Given the description of an element on the screen output the (x, y) to click on. 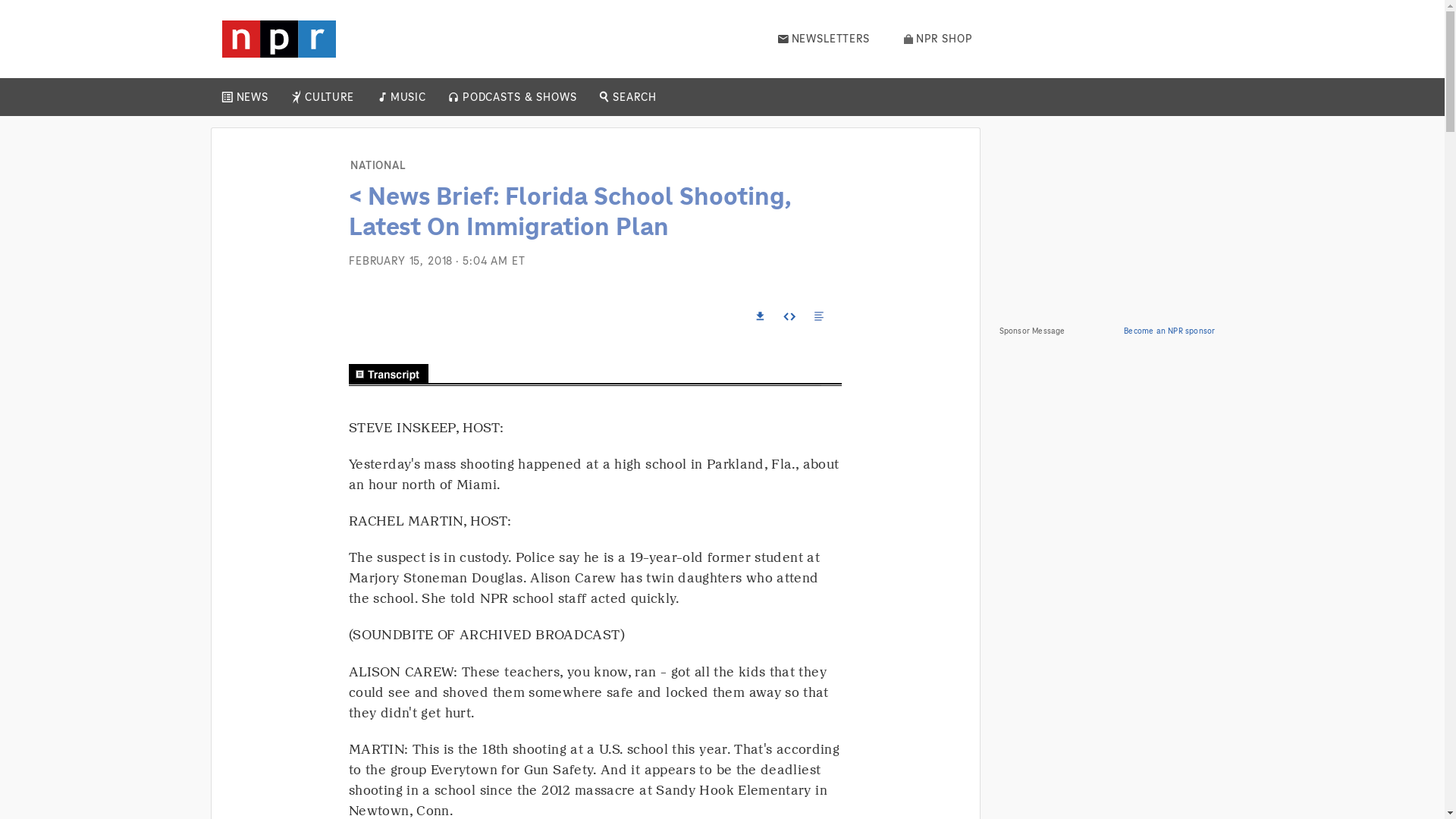
MUSIC (407, 96)
CULTURE (328, 96)
NEWS (251, 96)
NEWSLETTERS (823, 38)
NPR SHOP (938, 38)
